Given the description of an element on the screen output the (x, y) to click on. 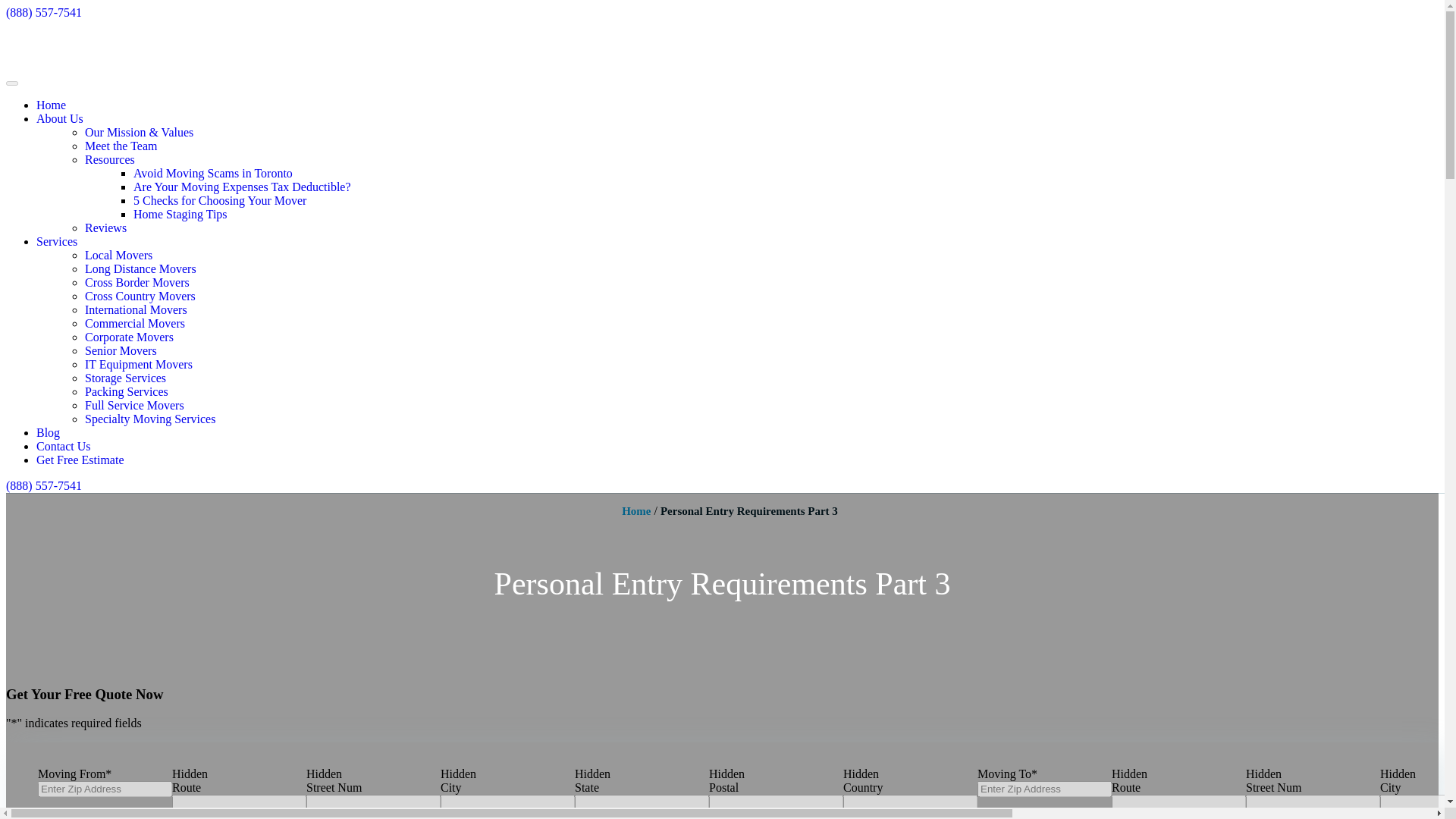
Resources (109, 159)
Packing Services (126, 391)
Contact Us (63, 445)
Local Movers (118, 254)
Storage Services (124, 377)
Home (635, 510)
Full Service Movers (134, 404)
Meet the Team (120, 145)
Avoid Moving Scams in Toronto (212, 173)
5 Checks for Choosing Your Mover (219, 200)
